Given the description of an element on the screen output the (x, y) to click on. 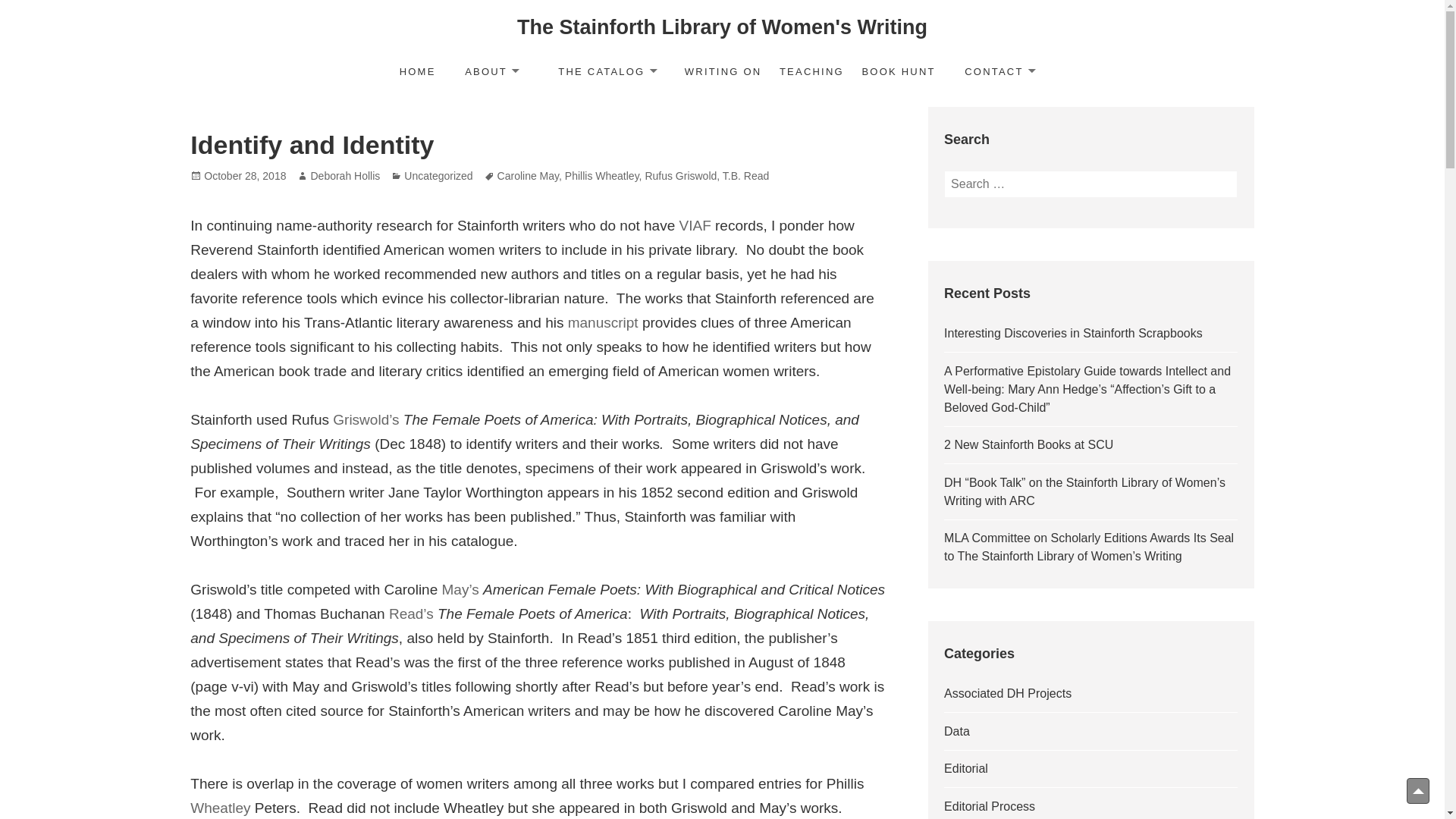
The Stainforth Library of Women's Writing (721, 27)
HOME (416, 72)
manuscript (603, 323)
Wheatley (220, 808)
Deborah Hollis (345, 175)
Caroline May (528, 175)
ABOUT (490, 72)
October 28, 2018 (244, 175)
